Given the description of an element on the screen output the (x, y) to click on. 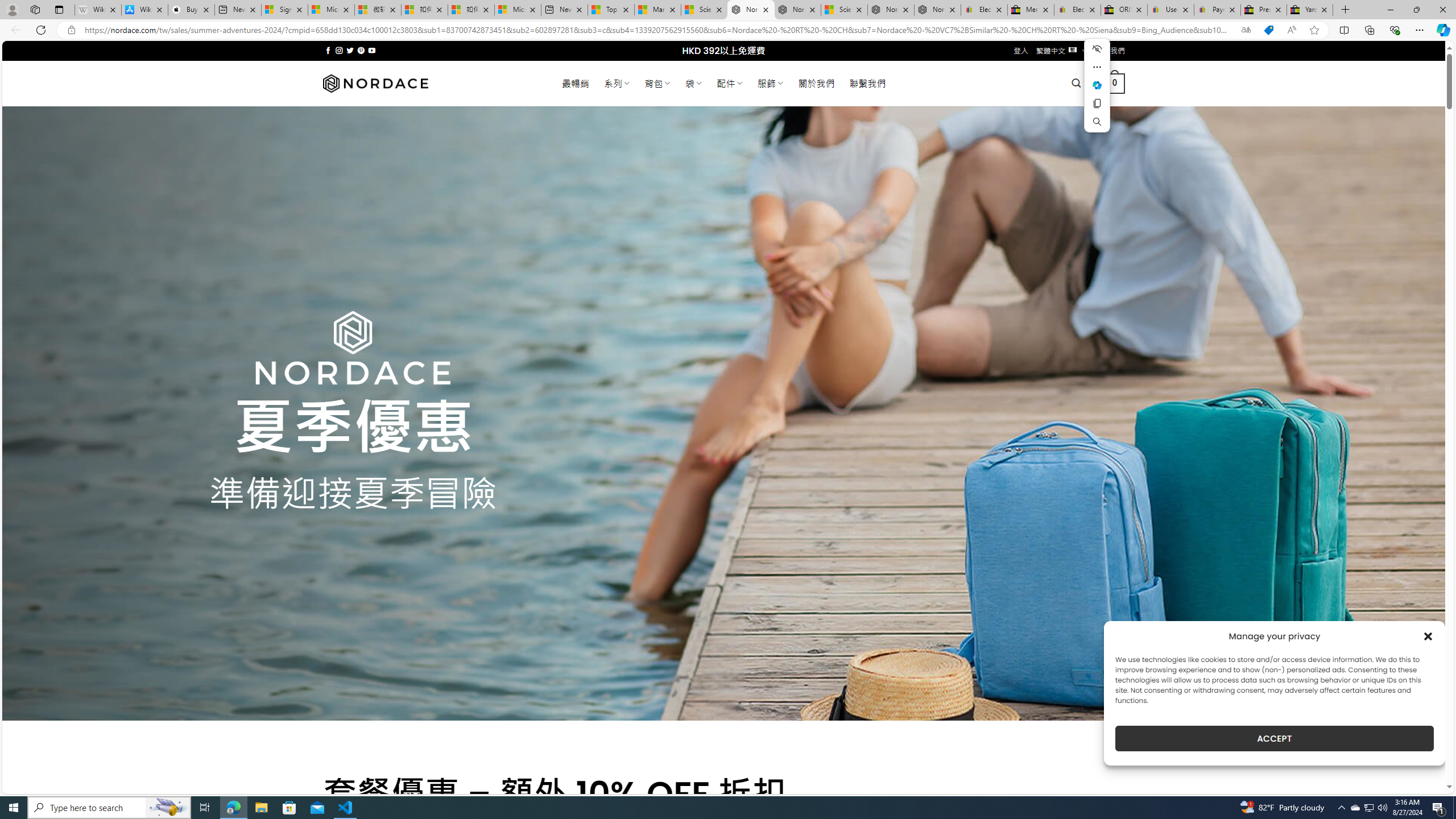
Hide menu (1096, 49)
Microsoft account | Account Checkup (517, 9)
Class: cmplz-close (1428, 636)
